Given the description of an element on the screen output the (x, y) to click on. 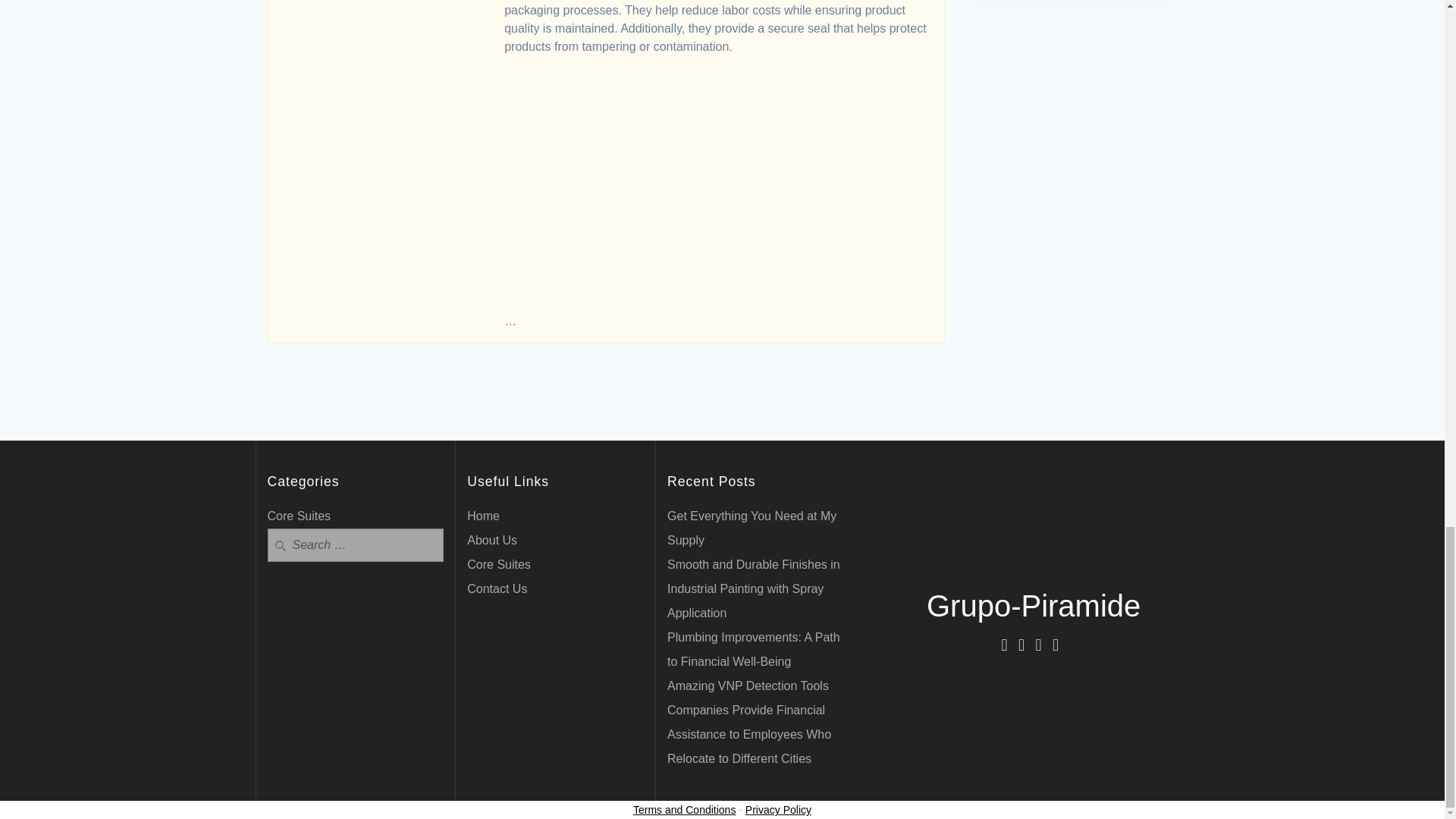
Core Suites (298, 515)
Contact Us (497, 588)
YouTube video player (715, 175)
Get Everything You Need at My Supply (750, 528)
Amazing VNP Detection Tools (747, 685)
Plumbing Improvements: A Path to Financial Well-Being (753, 649)
Core Suites (499, 563)
Home (483, 515)
About Us (491, 540)
